Given the description of an element on the screen output the (x, y) to click on. 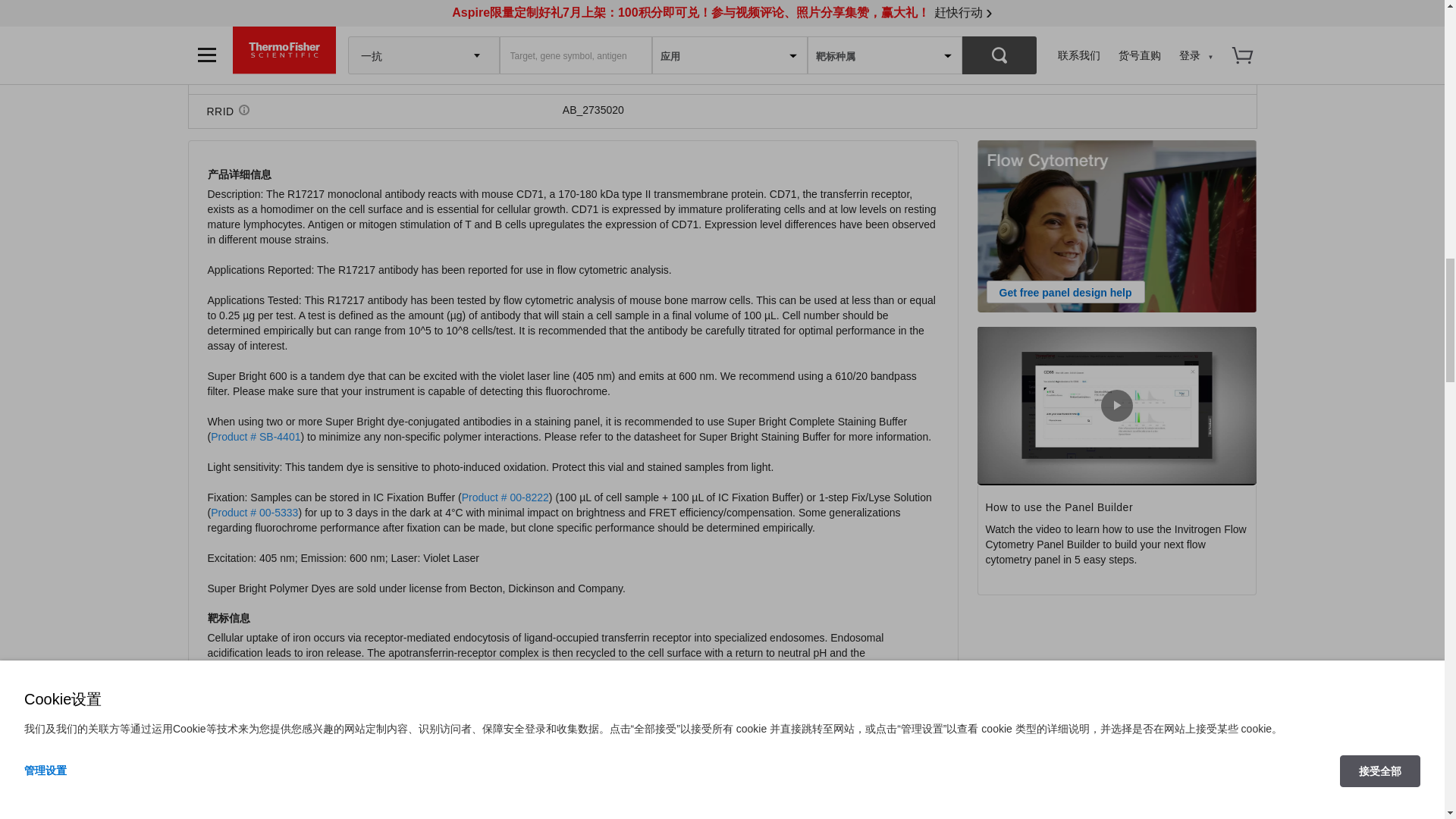
Play Video (1116, 405)
